Given the description of an element on the screen output the (x, y) to click on. 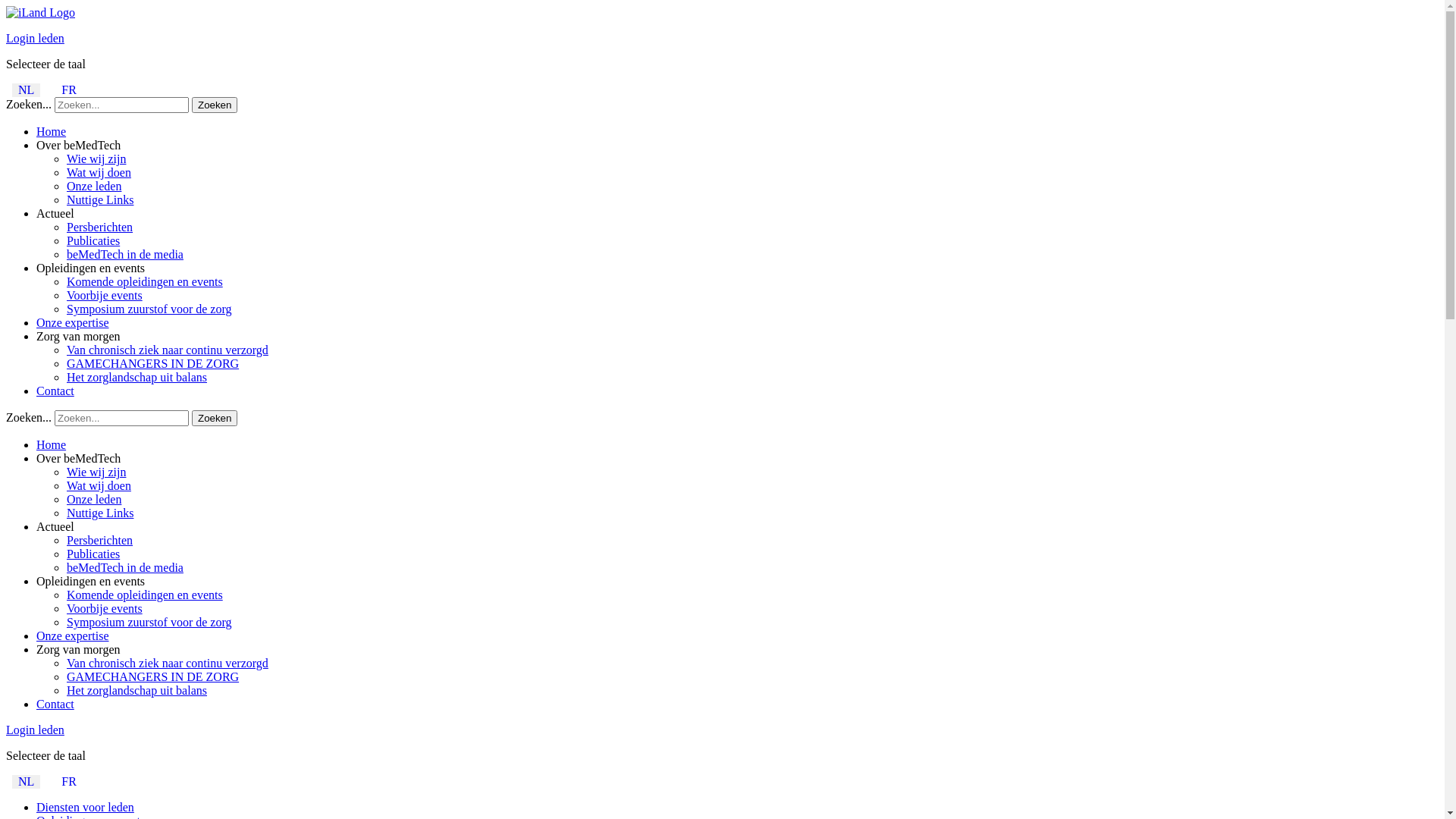
Wie wij zijn Element type: text (95, 471)
Het zorglandschap uit balans Element type: text (136, 376)
Contact Element type: text (55, 703)
Zoeken Element type: text (214, 418)
Komende opleidingen en events Element type: text (144, 281)
Publicaties Element type: text (92, 553)
Zoeken Element type: text (214, 104)
Publicaties Element type: text (92, 240)
Symposium zuurstof voor de zorg Element type: text (148, 308)
Nuttige Links Element type: text (99, 512)
Home Element type: text (50, 444)
FR Element type: text (68, 780)
Home Element type: text (50, 131)
Nuttige Links Element type: text (99, 199)
Onze expertise Element type: text (72, 635)
beMedTech in de media Element type: text (124, 567)
FR Element type: text (68, 89)
Persberichten Element type: text (99, 226)
Het zorglandschap uit balans Element type: text (136, 690)
GAMECHANGERS IN DE ZORG Element type: text (152, 676)
NL Element type: text (26, 780)
Wat wij doen Element type: text (98, 485)
Login leden Element type: text (35, 729)
Diensten voor leden Element type: text (85, 806)
Voorbije events Element type: text (104, 608)
Wat wij doen Element type: text (98, 172)
NL Element type: text (26, 89)
beMedTech in de media Element type: text (124, 253)
Symposium zuurstof voor de zorg Element type: text (148, 621)
Persberichten Element type: text (99, 539)
Onze leden Element type: text (93, 498)
Onze expertise Element type: text (72, 322)
GAMECHANGERS IN DE ZORG Element type: text (152, 363)
Wie wij zijn Element type: text (95, 158)
Van chronisch ziek naar continu verzorgd Element type: text (167, 349)
Contact Element type: text (55, 390)
Voorbije events Element type: text (104, 294)
Onze leden Element type: text (93, 185)
Komende opleidingen en events Element type: text (144, 594)
Login leden Element type: text (35, 37)
Van chronisch ziek naar continu verzorgd Element type: text (167, 662)
